Given the description of an element on the screen output the (x, y) to click on. 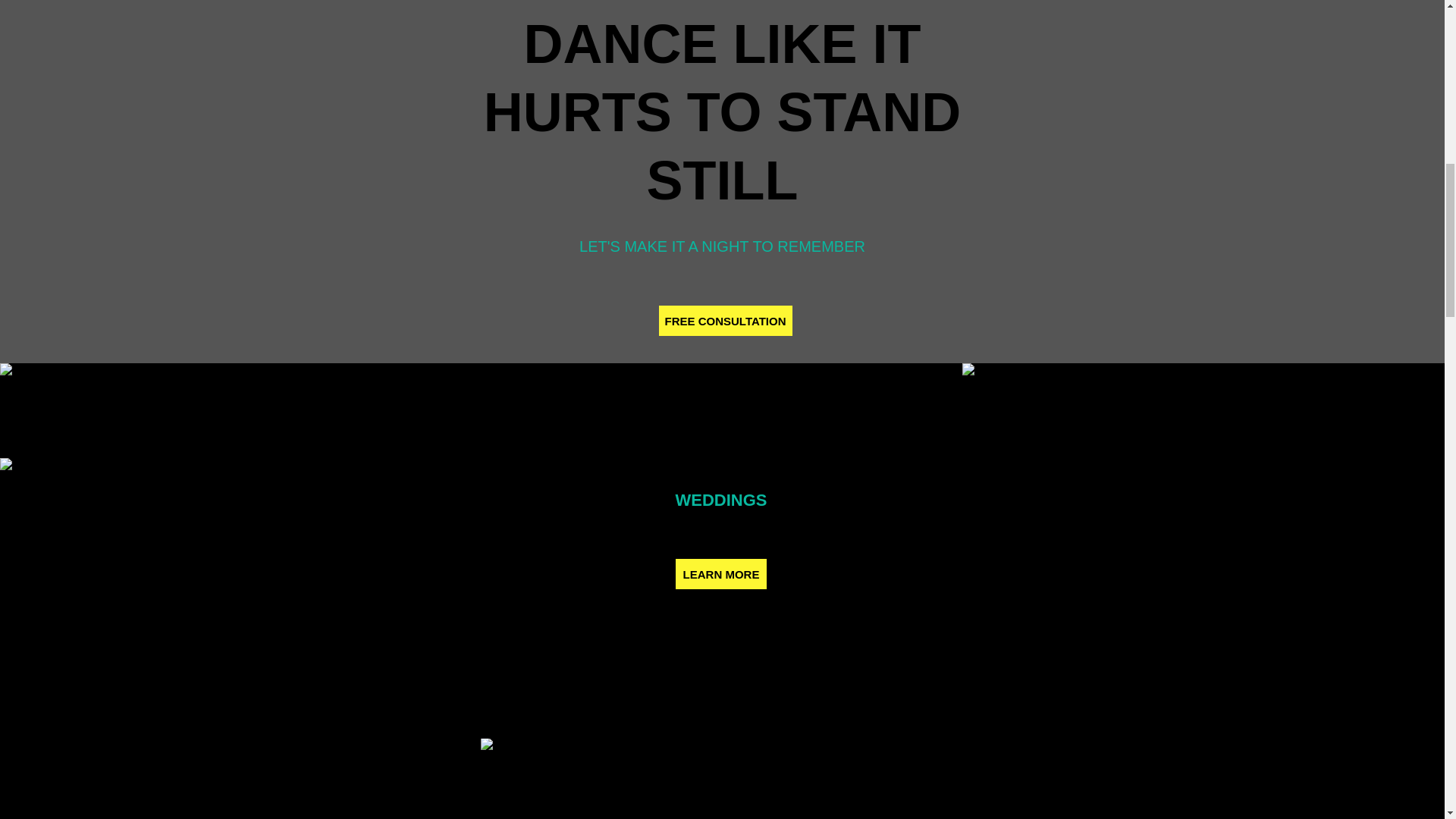
FREE CONSULTATION (725, 320)
LEARN MORE (721, 573)
